Given the description of an element on the screen output the (x, y) to click on. 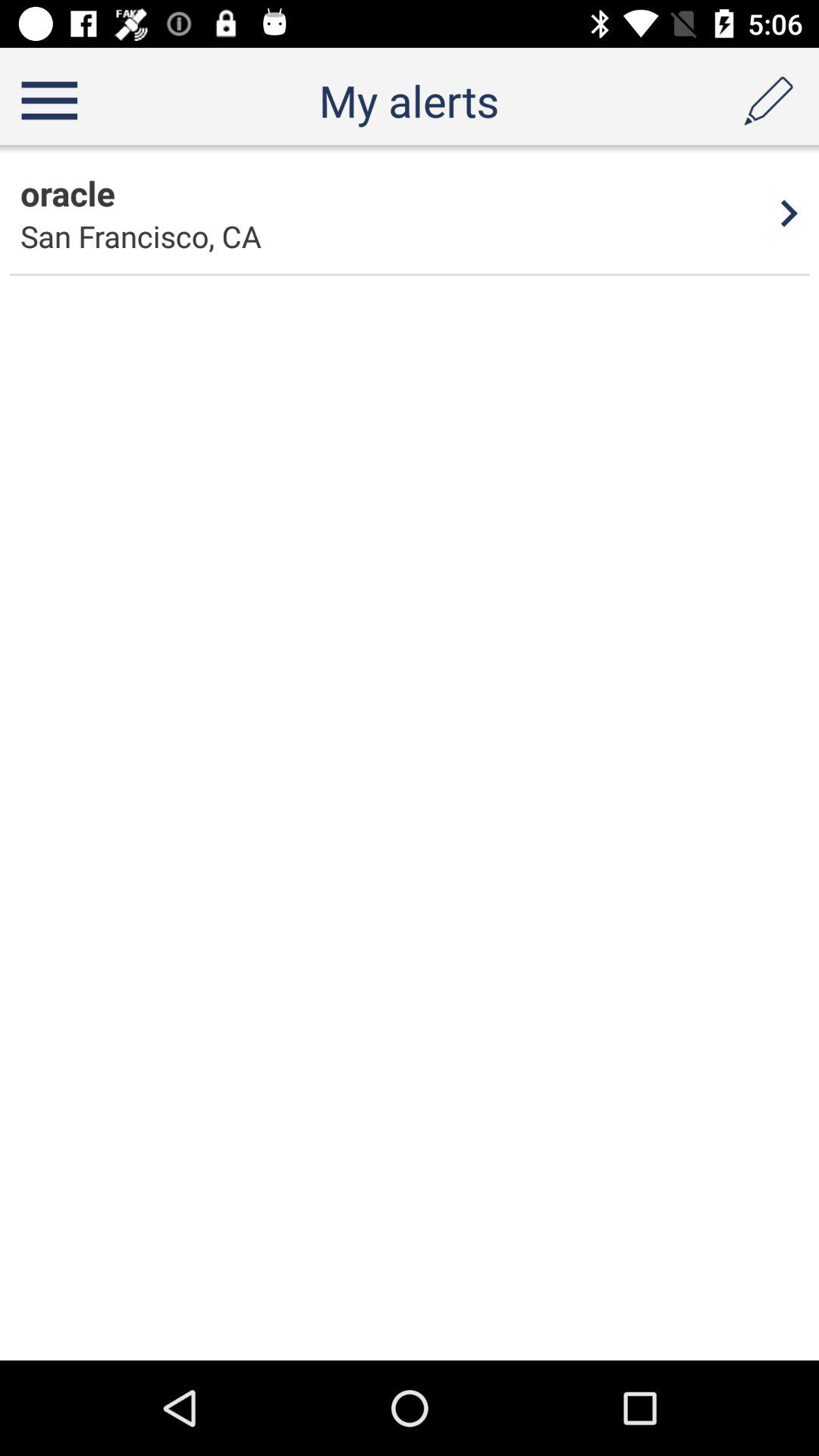
choose 4 icon (789, 213)
